Given the description of an element on the screen output the (x, y) to click on. 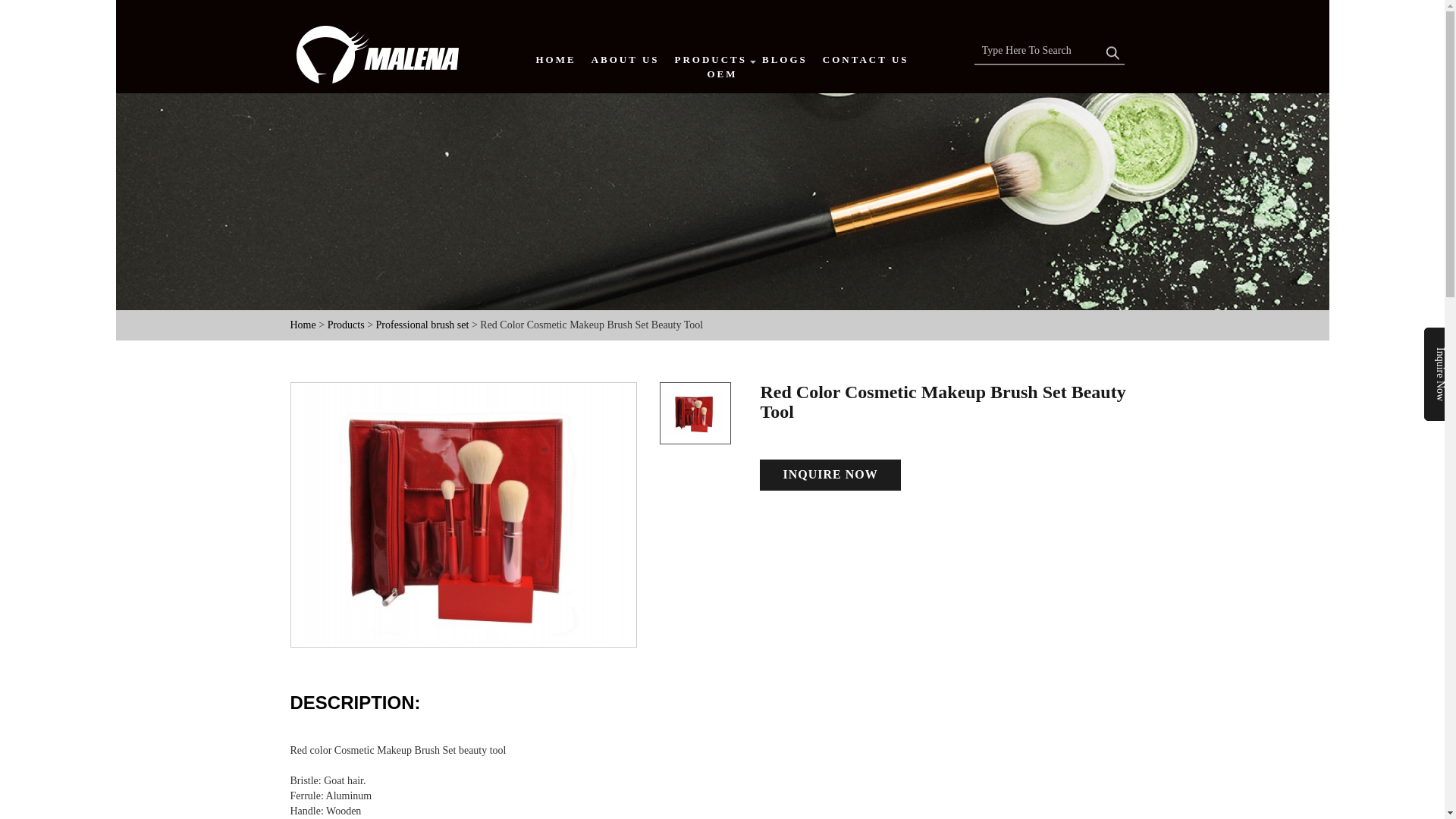
PRODUCTS (711, 60)
INQUIRE NOW (829, 474)
ABOUT US (625, 60)
Red Color Cosmetic Makeup Brush Set Beauty Tool (464, 514)
CONTACT US (865, 60)
Professional brush set (423, 324)
OEM (721, 74)
BLOGS (784, 60)
Home (302, 324)
SEARCH (1112, 48)
HOME (555, 60)
Malena (389, 49)
Products (346, 324)
